Given the description of an element on the screen output the (x, y) to click on. 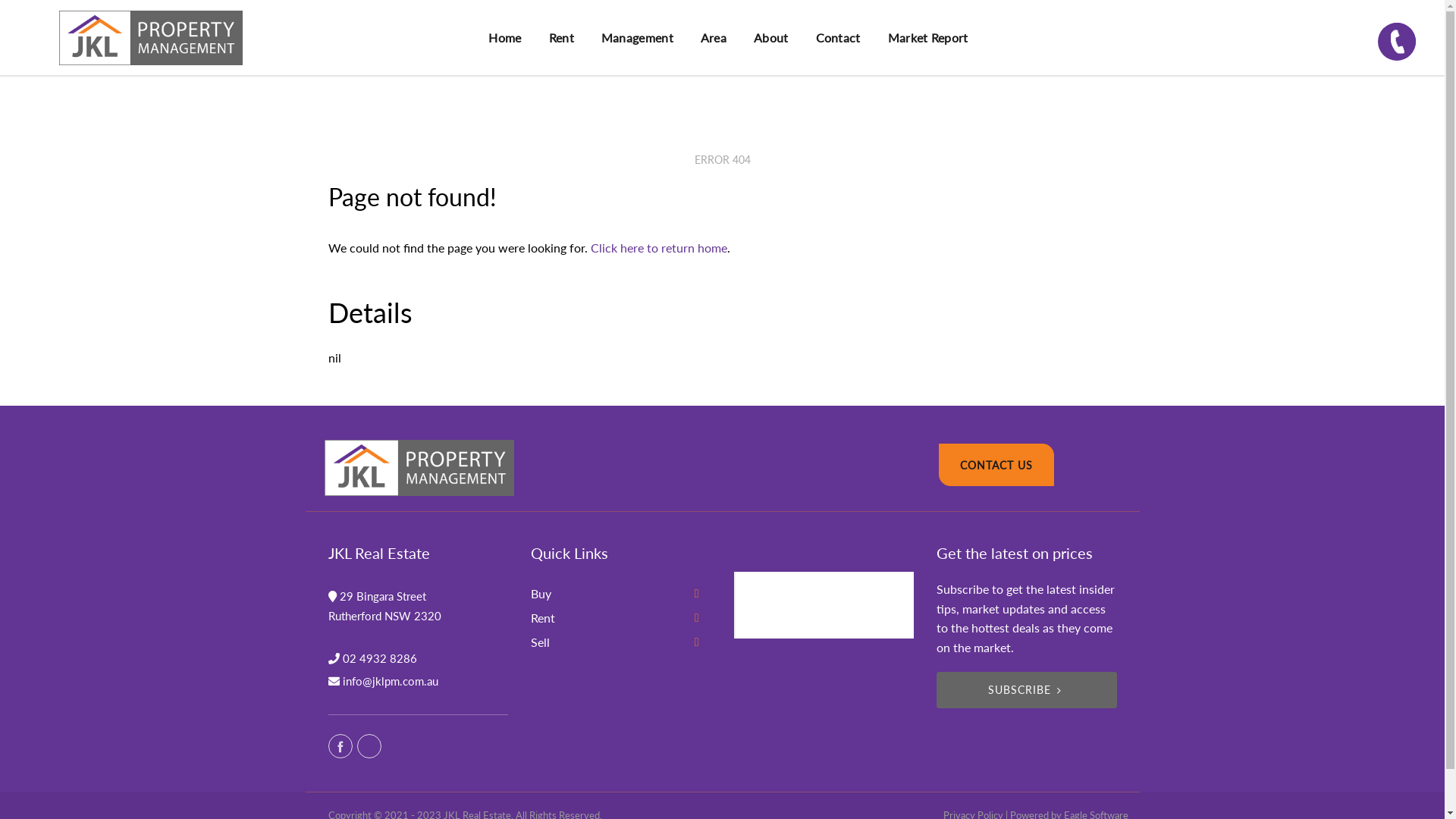
JKL Real Estate Hunter Valley Website Element type: text (824, 604)
Rent Element type: text (561, 37)
About Element type: text (770, 37)
Click here to return home Element type: text (657, 247)
SUBSCRIBE Element type: text (1026, 689)
Home Element type: text (504, 37)
Market Report Element type: text (928, 37)
02 4932 8286 Element type: text (379, 658)
Area Element type: text (713, 37)
info@jklpm.com.au Element type: text (390, 680)
Contact Element type: text (837, 37)
CONTACT US Element type: text (996, 464)
Management Element type: text (637, 37)
